Given the description of an element on the screen output the (x, y) to click on. 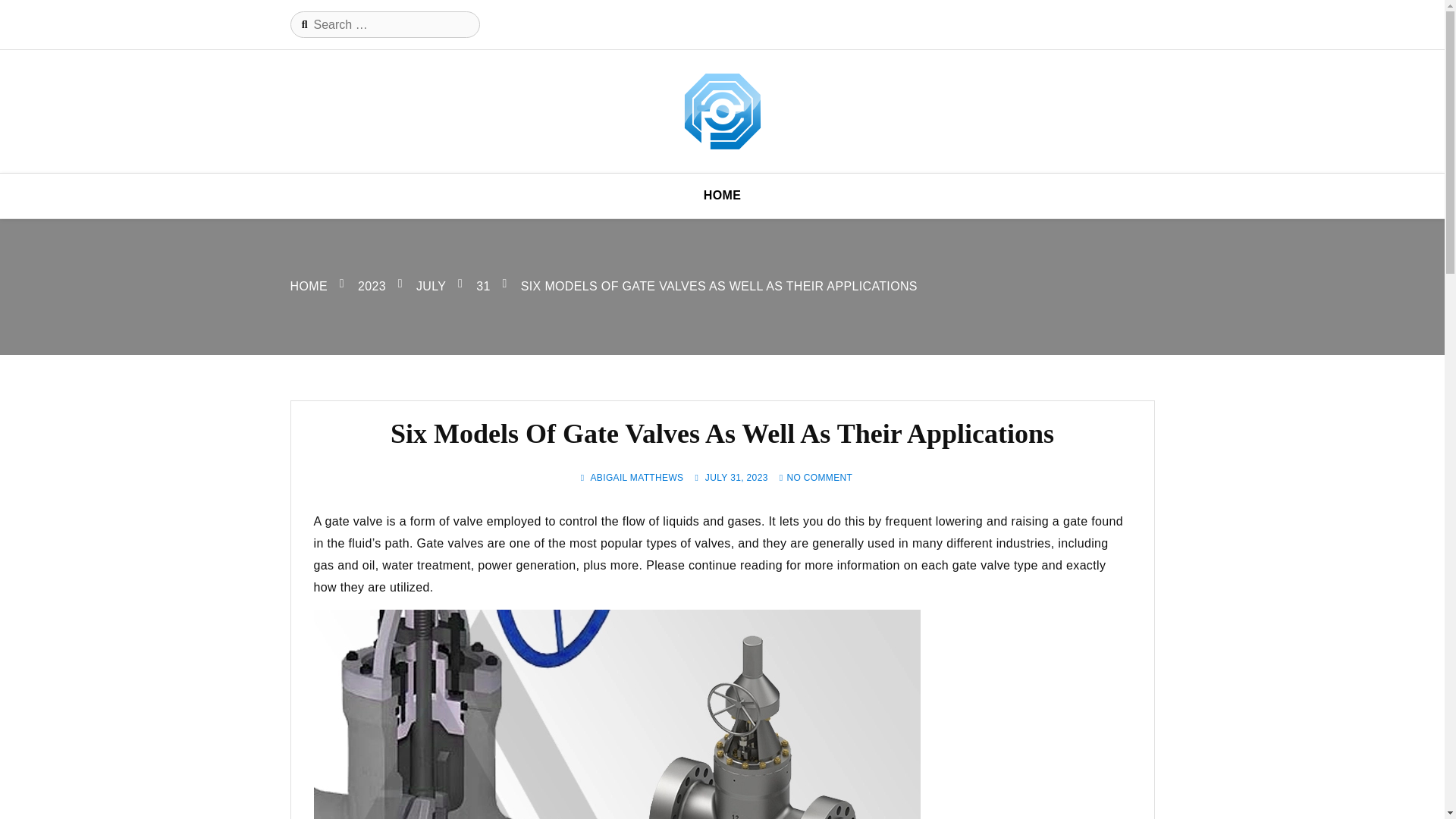
JULY 31, 2023 (736, 477)
Search (21, 13)
NO COMMENT (818, 477)
HOME (721, 195)
31 (483, 286)
JULY (430, 286)
ABIGAIL MATTHEWS (635, 477)
HOME (307, 286)
2023 (371, 286)
